Given the description of an element on the screen output the (x, y) to click on. 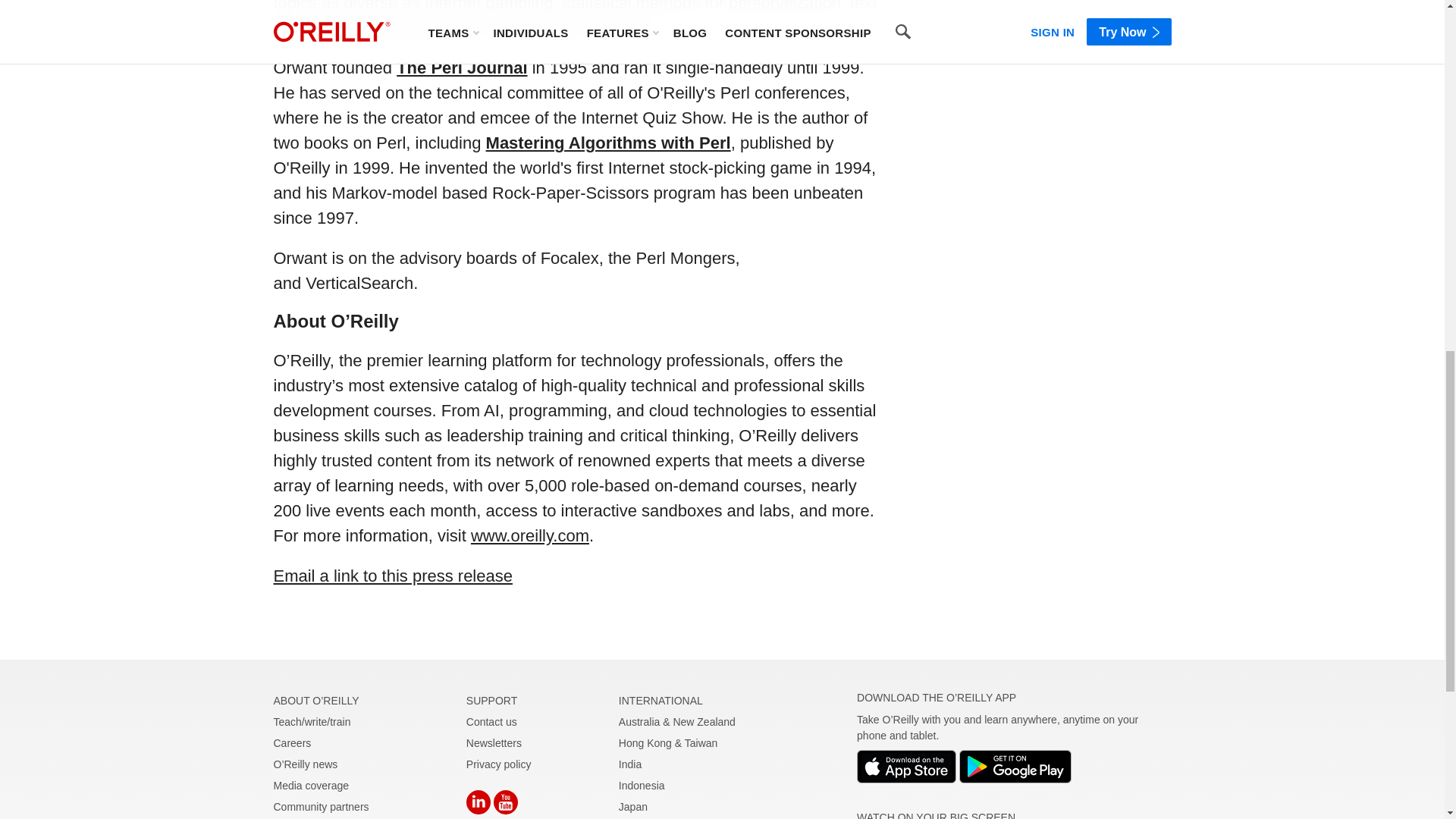
Media coverage (311, 785)
SUPPORT (490, 700)
www.oreilly.com (529, 535)
Contact us (461, 67)
Email a link to this press release (490, 721)
Community partners (392, 575)
Careers (320, 806)
